Given the description of an element on the screen output the (x, y) to click on. 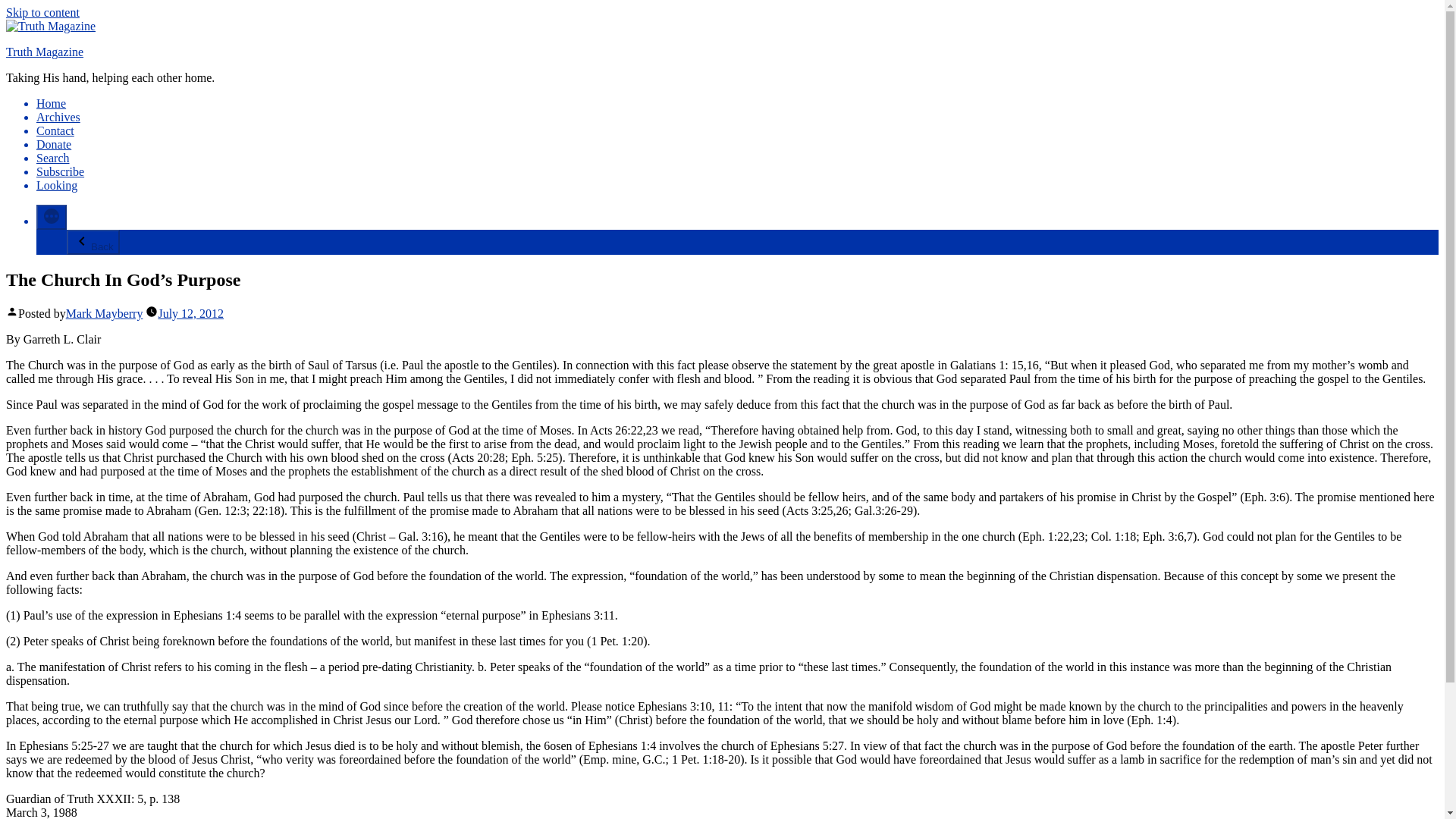
Truth Magazine (43, 51)
Donate (53, 144)
Archives (58, 116)
Subscribe (60, 171)
Looking (56, 185)
Mark Mayberry (103, 313)
July 12, 2012 (190, 313)
Contact (55, 130)
Home (50, 103)
Search (52, 157)
Back (92, 242)
Skip to content (42, 11)
